Given the description of an element on the screen output the (x, y) to click on. 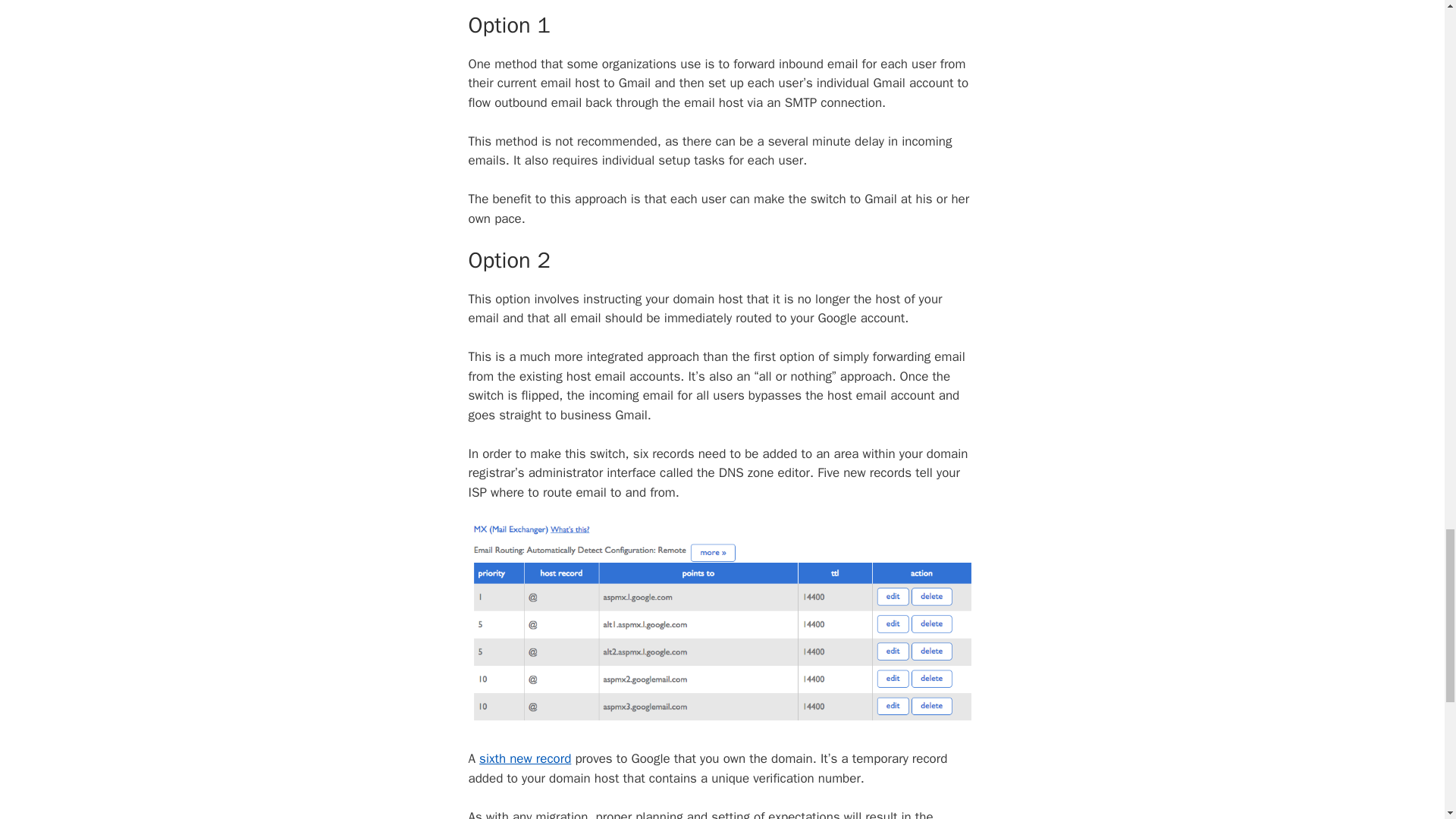
sixth new record (524, 758)
